Given the description of an element on the screen output the (x, y) to click on. 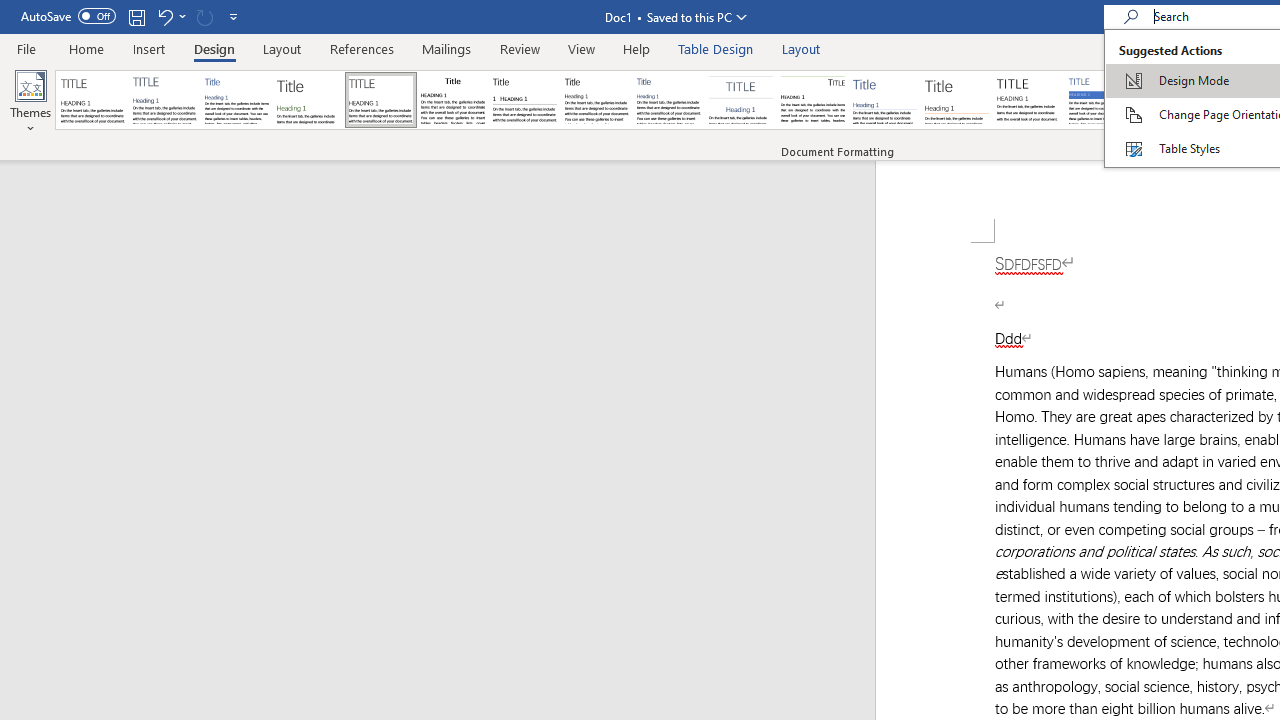
Black & White (Word 2013) (596, 100)
Lines (Stylish) (957, 100)
Centered (740, 100)
Document (93, 100)
Casual (669, 100)
Lines (Simple) (884, 100)
Shaded (1100, 100)
Undo Apply Quick Style Set (164, 15)
Black & White (Numbered) (524, 100)
Lines (Distinctive) (812, 100)
